Given the description of an element on the screen output the (x, y) to click on. 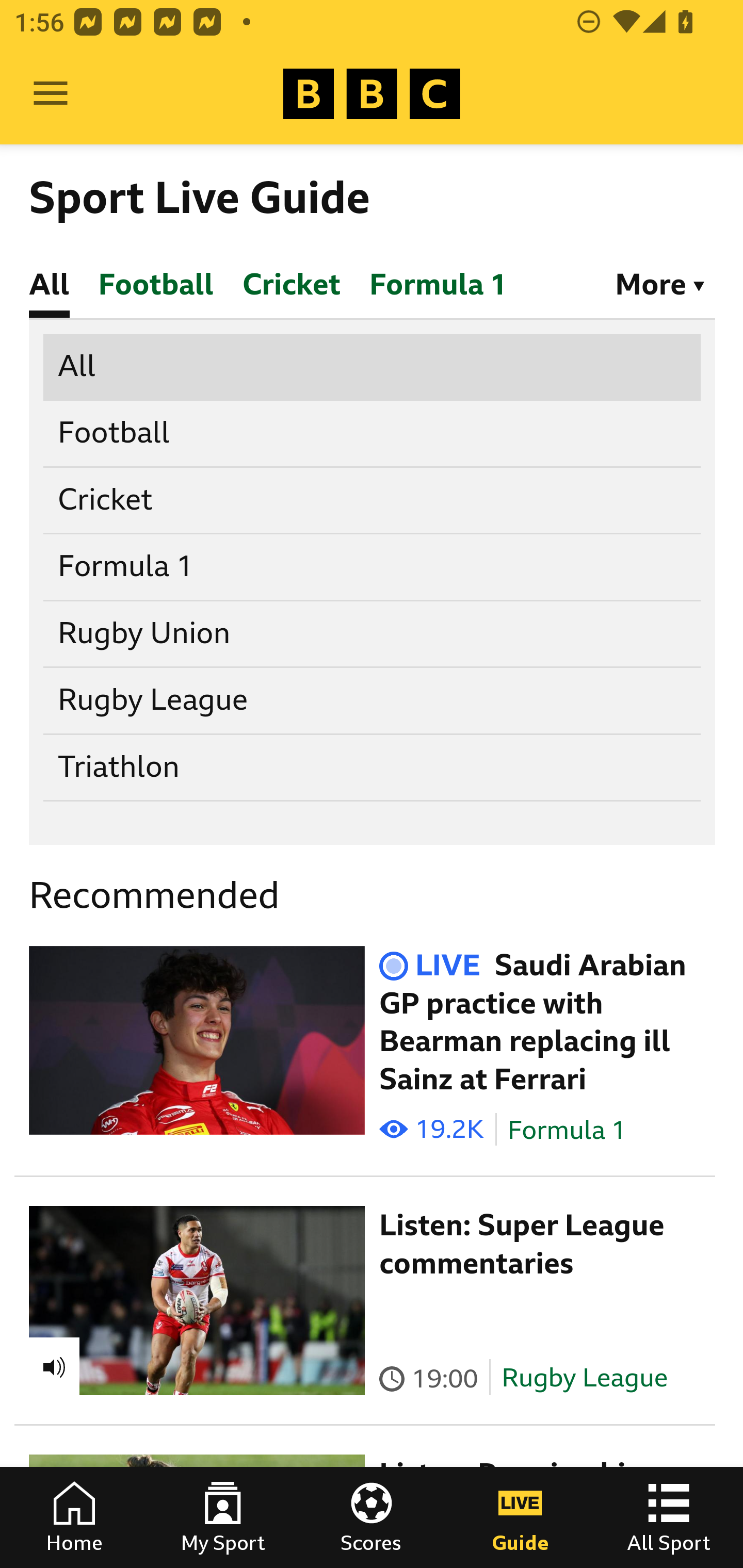
Open Menu (50, 93)
All (372, 366)
Football (372, 434)
Cricket (372, 499)
Formula 1 (372, 567)
Rugby Union (372, 632)
Rugby League (372, 699)
Triathlon (372, 766)
Formula 1 (566, 1129)
Listen: Super League commentaries (522, 1244)
Rugby League (584, 1377)
Home (74, 1517)
My Sport (222, 1517)
Scores (371, 1517)
All Sport (668, 1517)
